Given the description of an element on the screen output the (x, y) to click on. 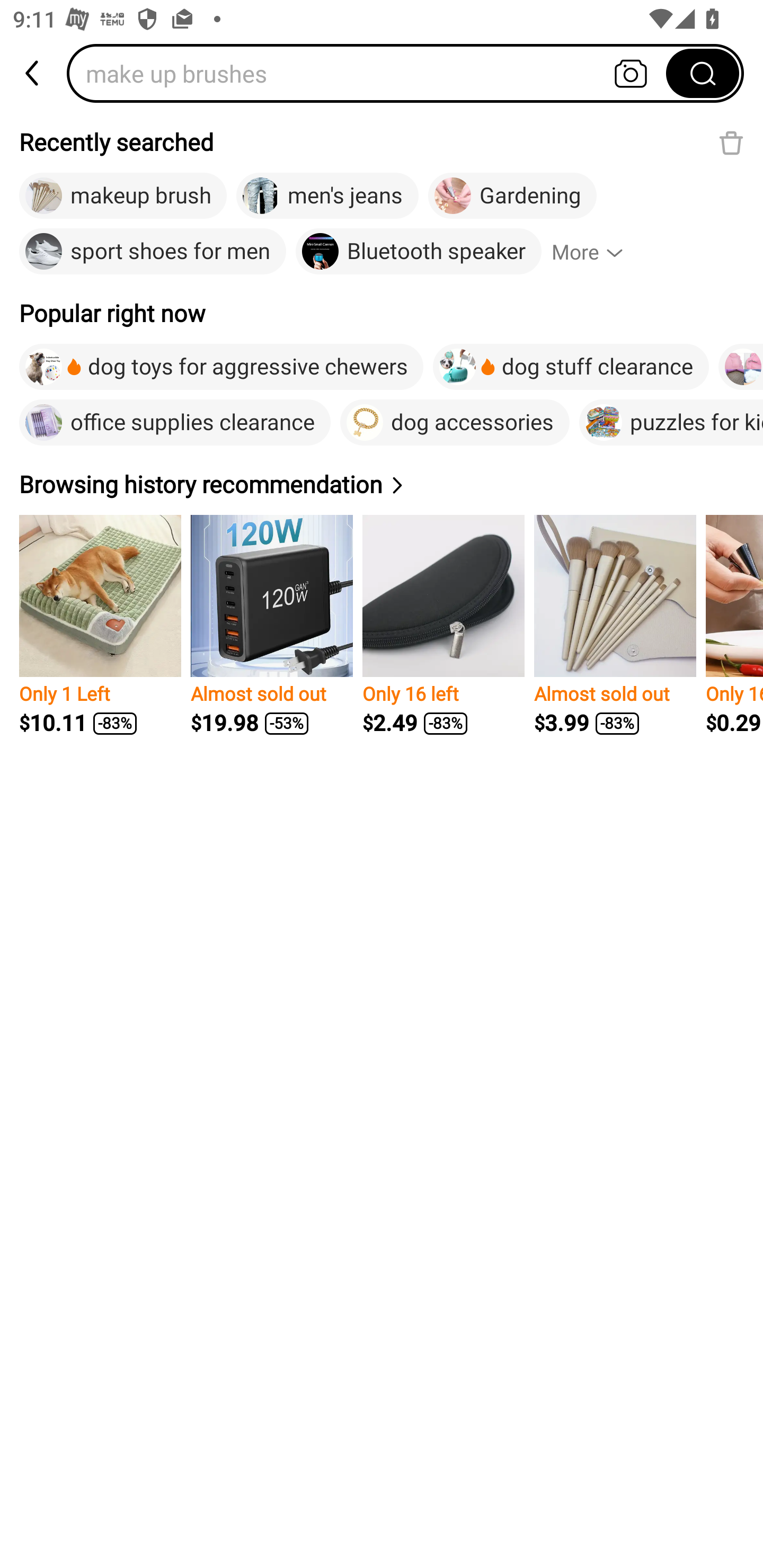
back (33, 72)
make up brushes (372, 73)
Search by photo (630, 73)
Delete recent search (731, 142)
makeup brush (122, 195)
men's jeans (327, 195)
Gardening (512, 195)
sport shoes for men (152, 251)
Bluetooth speaker (418, 251)
More (595, 251)
dog toys for aggressive chewers (221, 366)
dog stuff clearance (570, 366)
office supplies clearance (174, 422)
dog accessories (454, 422)
puzzles for kids (671, 422)
Browsing history recommendation (213, 484)
Only 1 Left $10.11 -83% (100, 625)
Almost sold out $19.98 -53% (271, 625)
Only 16 left $2.49 -83% (443, 625)
Almost sold out $3.99 -83% (614, 625)
